Given the description of an element on the screen output the (x, y) to click on. 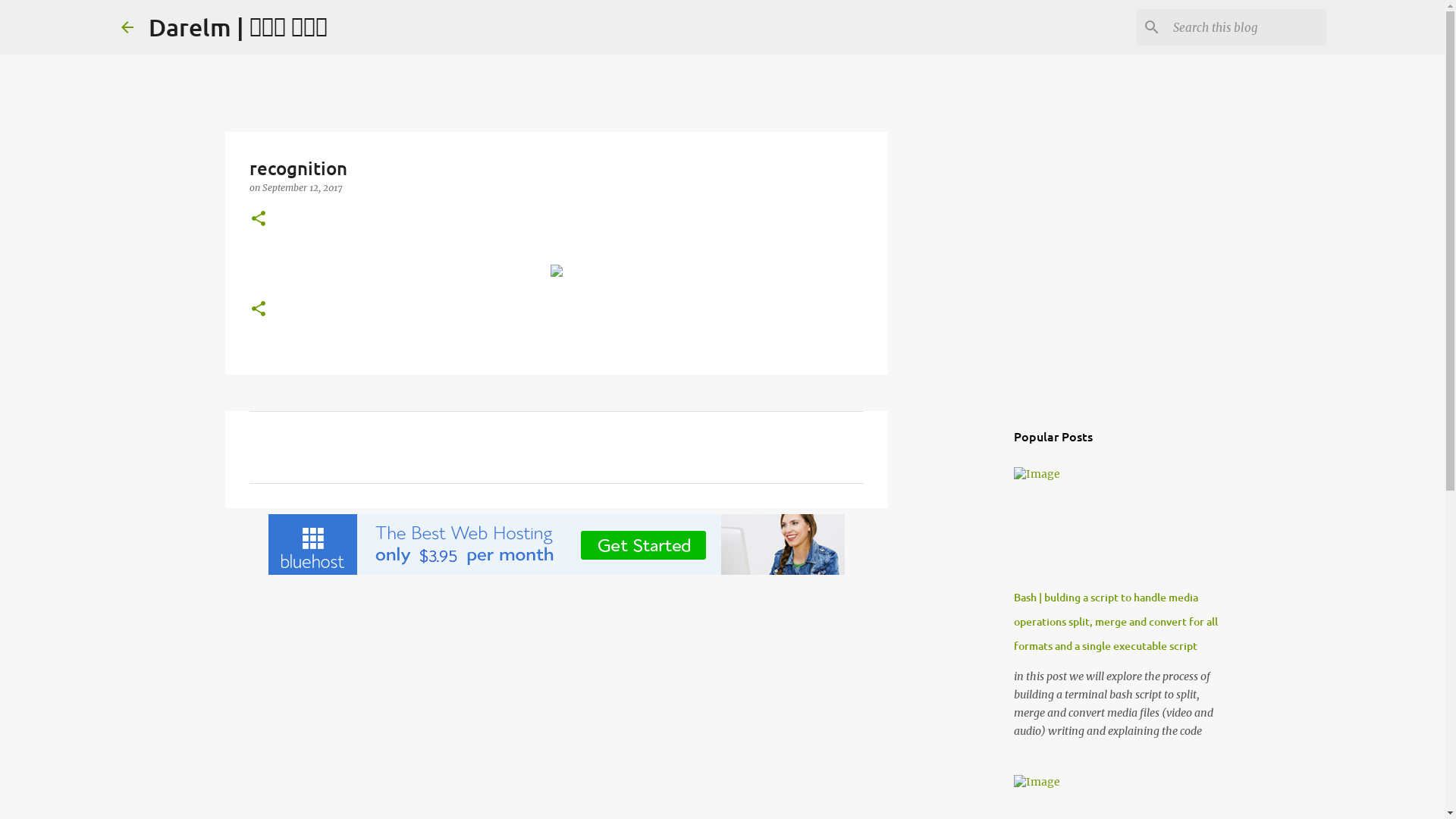
September 12, 2017 Element type: text (302, 187)
